Given the description of an element on the screen output the (x, y) to click on. 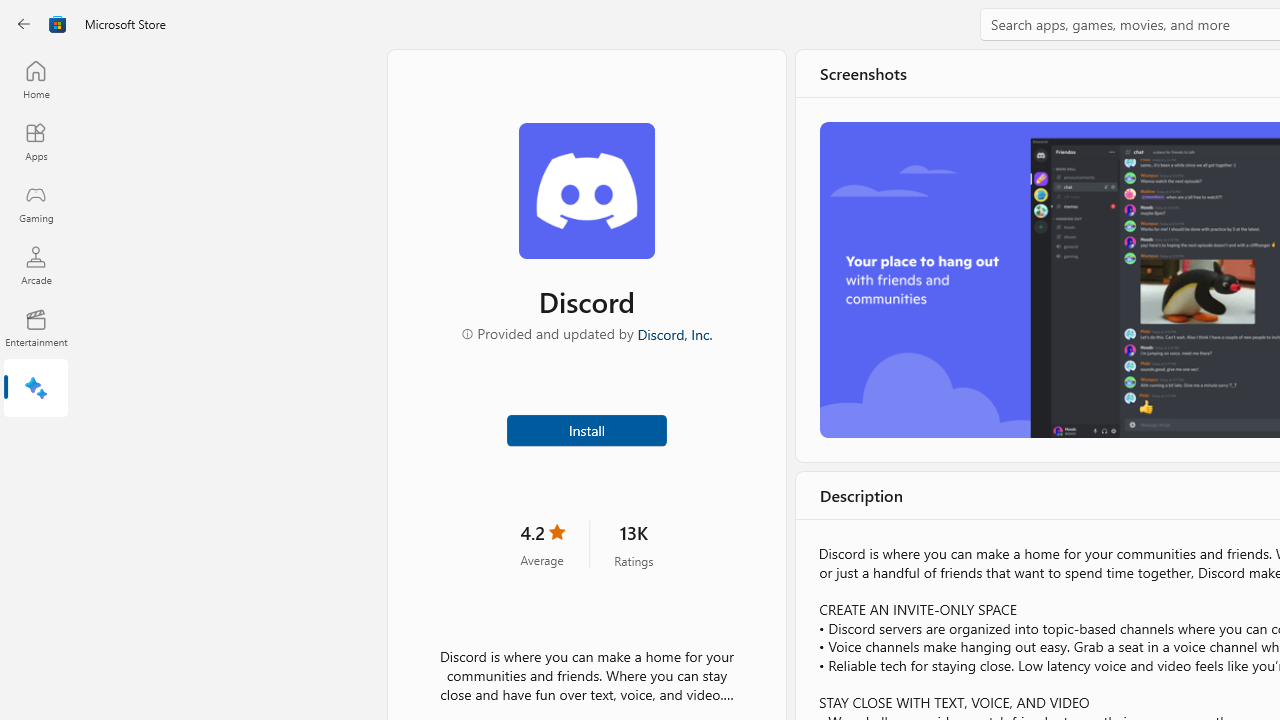
Apps (35, 141)
Discord, Inc. (673, 333)
Back (24, 24)
Class: Image (58, 24)
Arcade (35, 265)
AI Hub (35, 390)
4.2 stars. Click to skip to ratings and reviews (542, 543)
Home (35, 79)
Gaming (35, 203)
Install (586, 428)
Entertainment (35, 327)
